Given the description of an element on the screen output the (x, y) to click on. 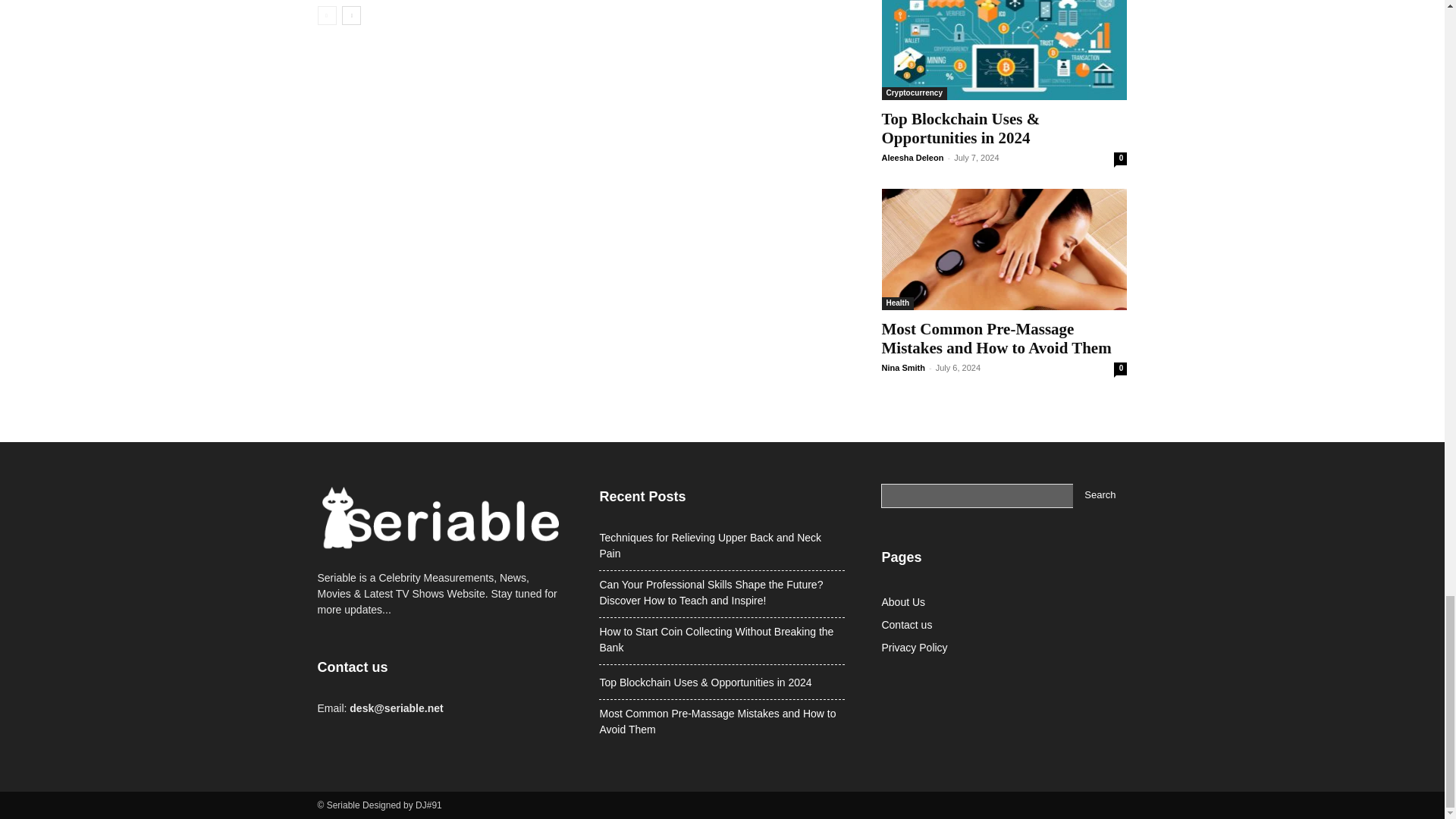
Search (1099, 495)
